Given the description of an element on the screen output the (x, y) to click on. 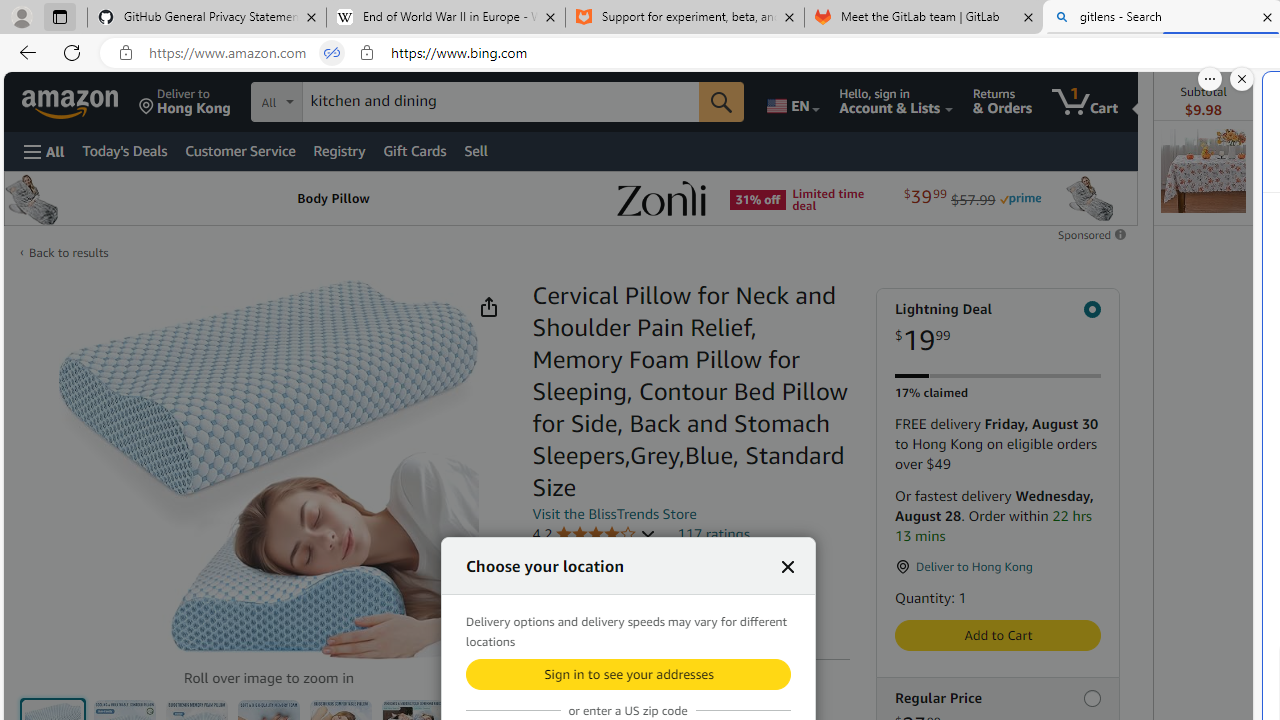
1 item in cart (1084, 101)
Lightning Deal $19.99 (997, 327)
Prime (1019, 198)
Sign in to see your addresses (628, 674)
Go (721, 101)
Choose a language for shopping. (792, 101)
Search Amazon (501, 101)
End of World War II in Europe - Wikipedia (445, 17)
Gift Cards (414, 150)
Open Menu (44, 151)
